Given the description of an element on the screen output the (x, y) to click on. 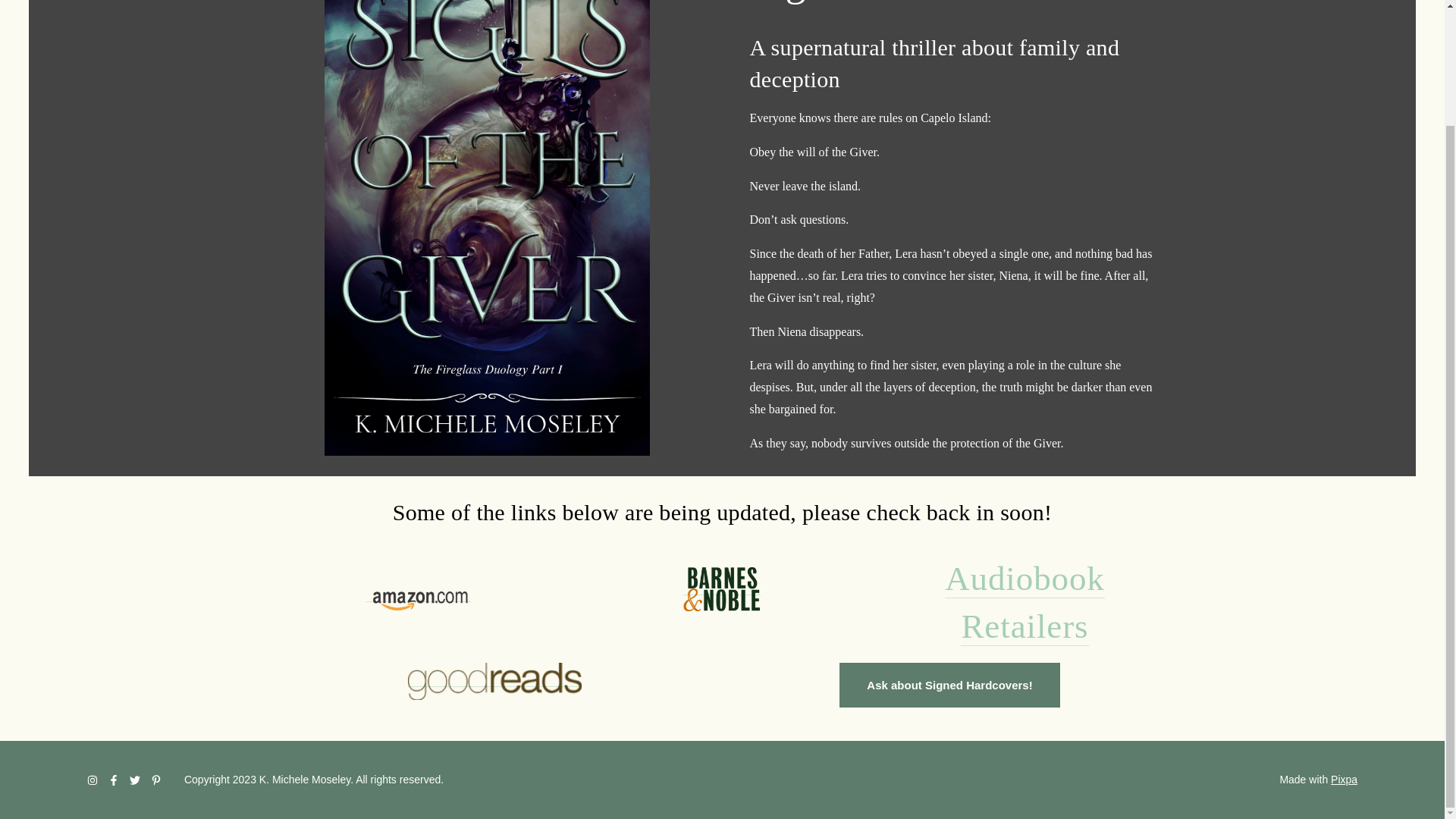
Audiobook Retailers (1024, 602)
Ask about Signed Hardcovers! (949, 684)
Audiobook Retailers (1024, 602)
Pixpa (1343, 779)
